Given the description of an element on the screen output the (x, y) to click on. 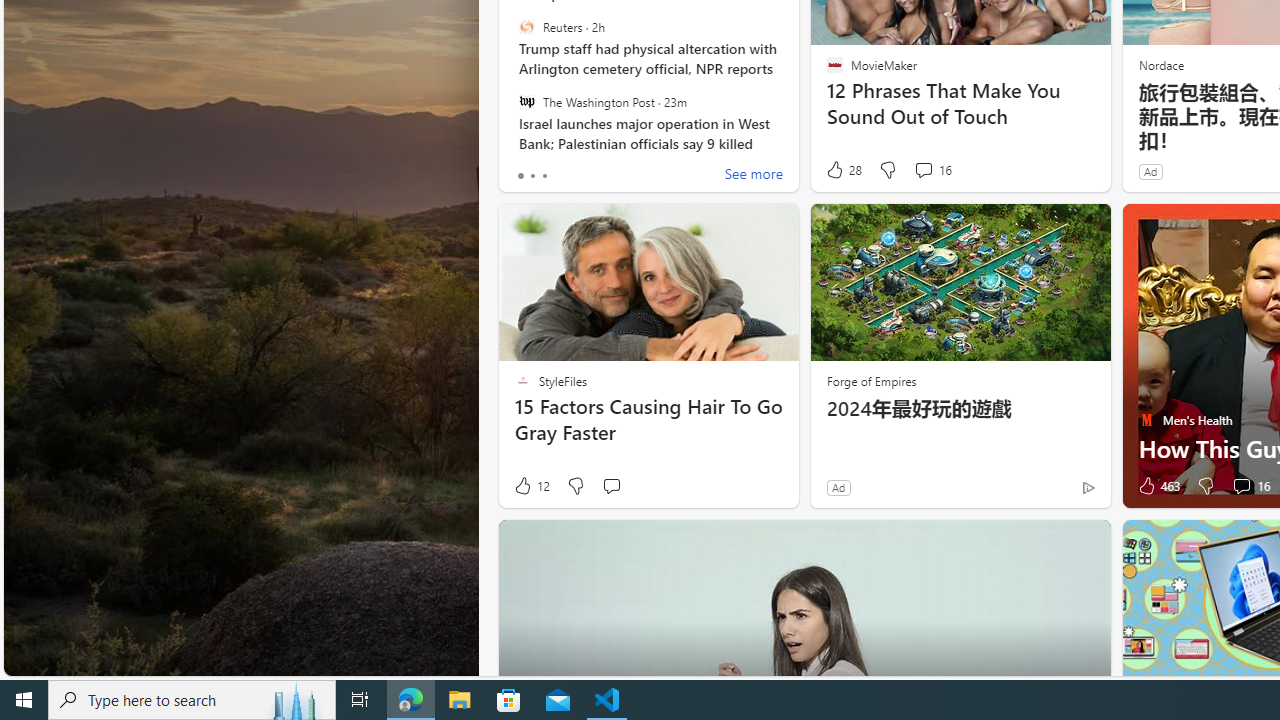
Forge of Empires (870, 380)
tab-2 (543, 175)
12 Like (531, 485)
463 Like (1157, 485)
